Given the description of an element on the screen output the (x, y) to click on. 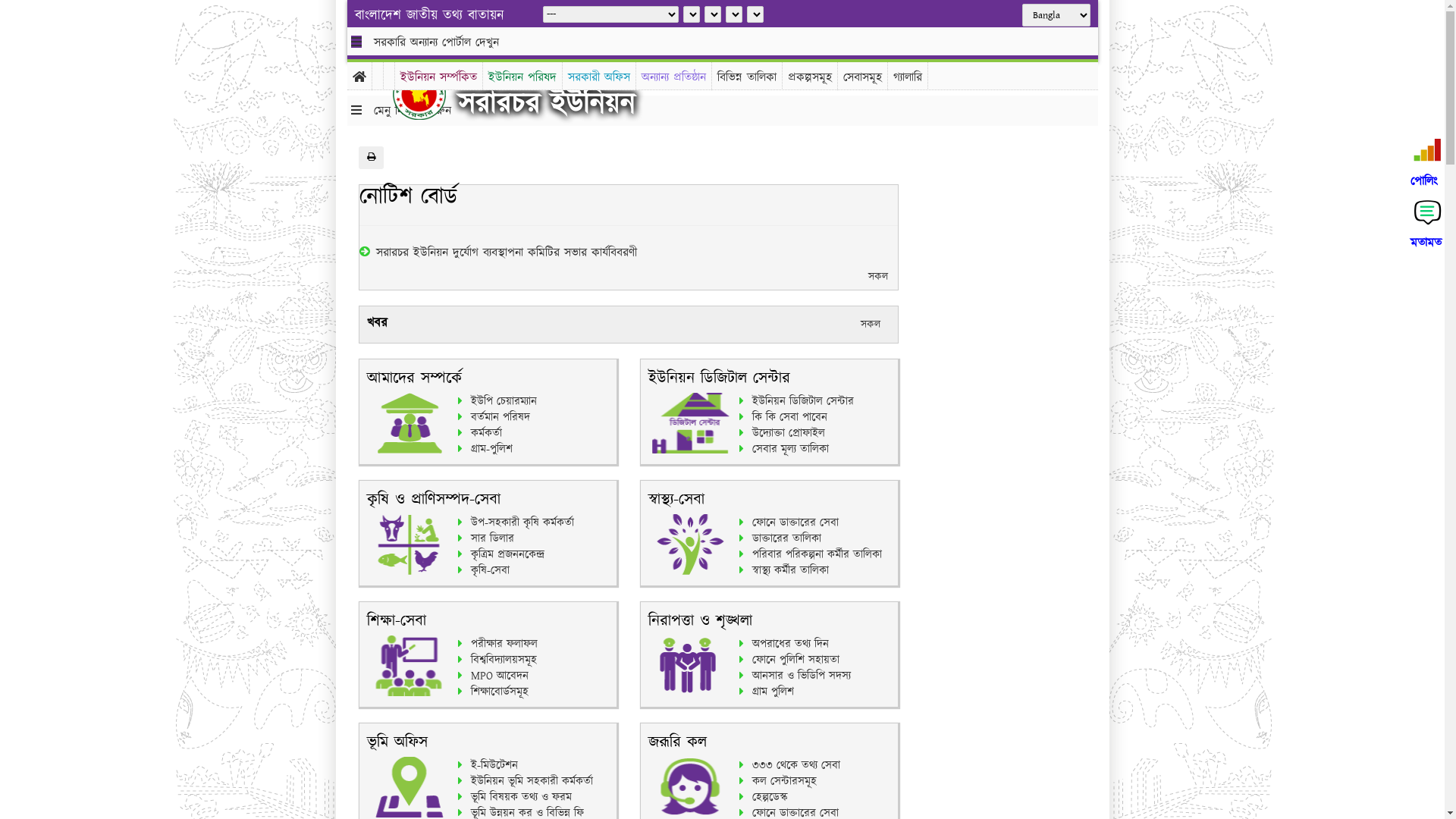

                
             Element type: hover (430, 93)
